Given the description of an element on the screen output the (x, y) to click on. 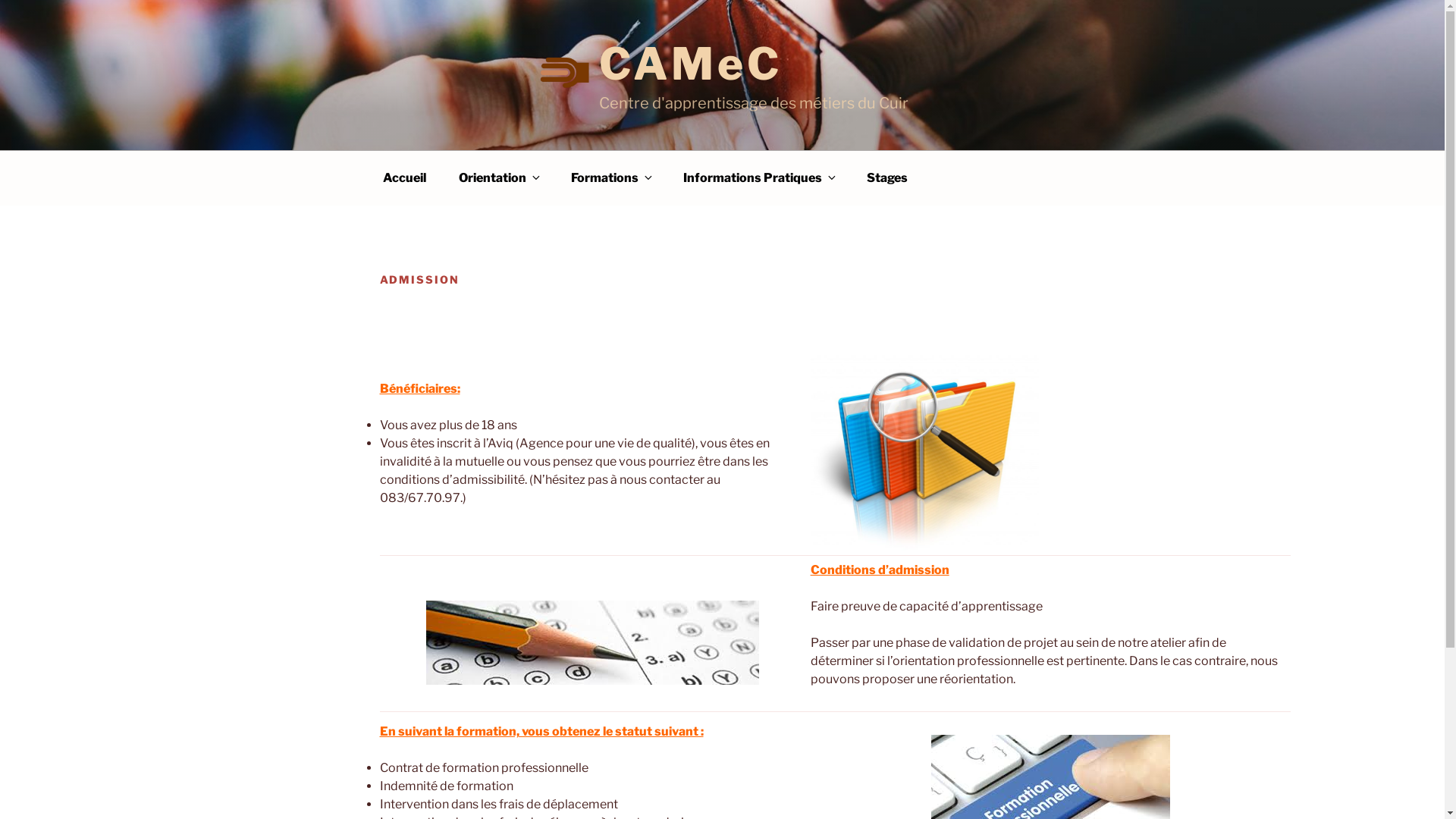
Accueil Element type: text (403, 177)
Stages Element type: text (886, 177)
Formations Element type: text (610, 177)
CAMeC Element type: text (690, 63)
Orientation Element type: text (497, 177)
Informations Pratiques Element type: text (757, 177)
